Given the description of an element on the screen output the (x, y) to click on. 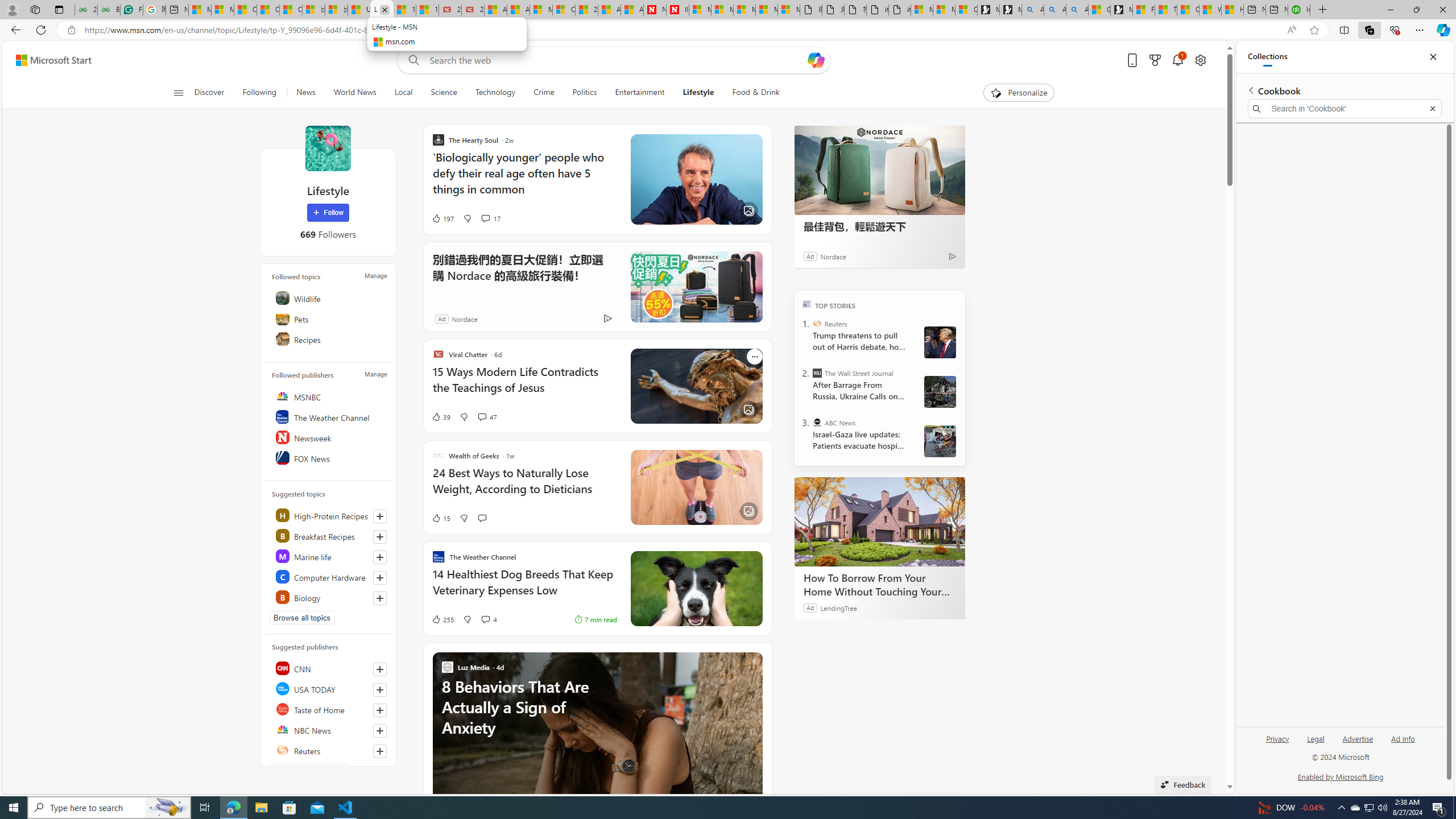
Free AI Writing Assistance for Students | Grammarly (131, 9)
Crime (543, 92)
View comments 17 Comment (485, 217)
CNN - MSN (1188, 9)
Newsweek - News, Analysis, Politics, Business, Technology (655, 9)
App bar (728, 29)
Microsoft rewards (1154, 60)
Legal (1315, 742)
